Given the description of an element on the screen output the (x, y) to click on. 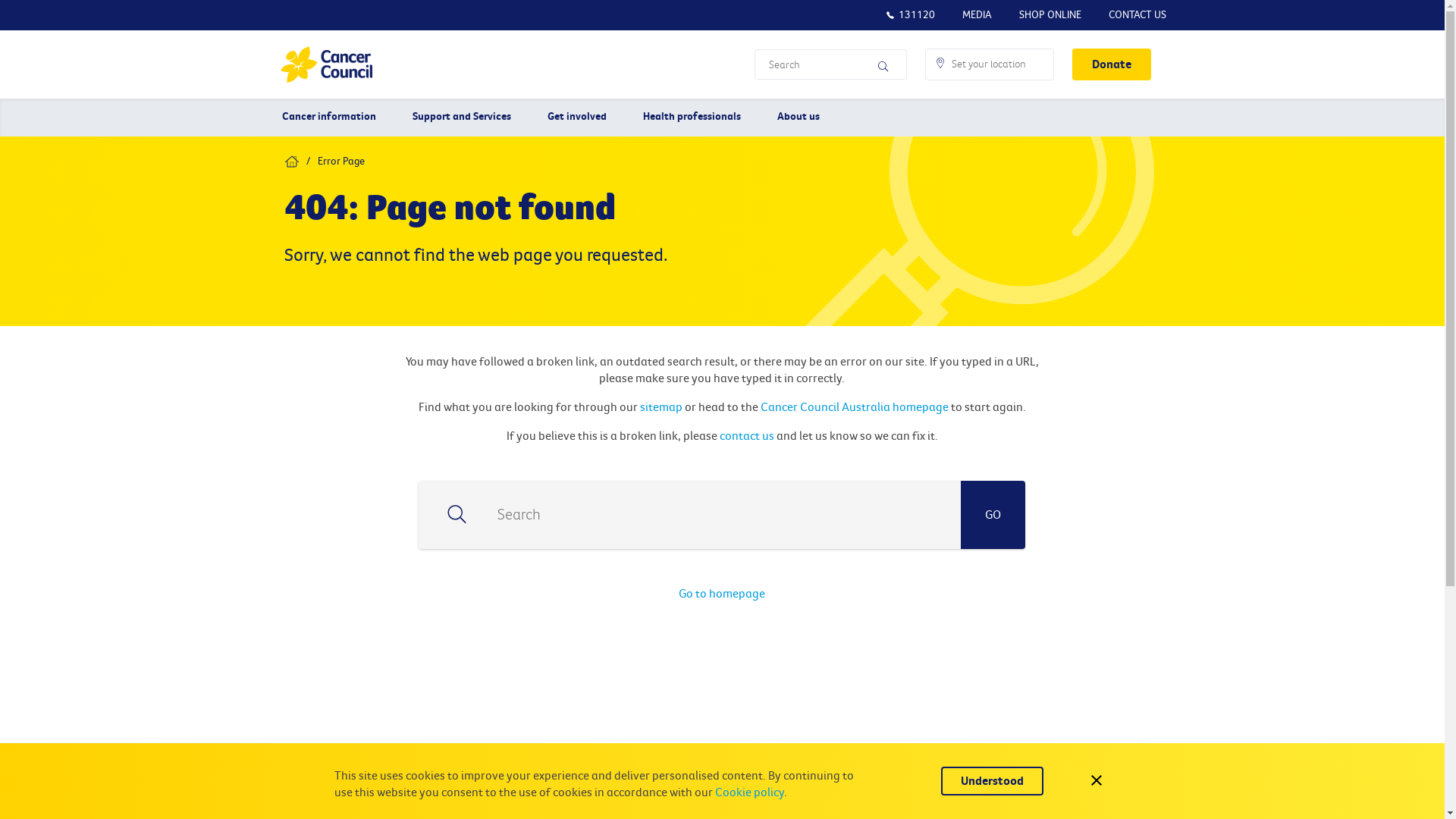
MEDIA Element type: text (976, 14)
131120 Element type: text (909, 14)
CONTACT US Element type: text (1137, 14)
Support and Services Element type: text (461, 117)
Get involved Element type: text (576, 117)
Error Page Element type: text (340, 160)
close Element type: hover (1096, 781)
About us Element type: text (798, 117)
Cookie policy Element type: text (749, 792)
sitemap Element type: text (661, 407)
GO Element type: text (992, 514)
Donate Element type: text (1111, 64)
Cancer information Element type: text (329, 117)
contact us Element type: text (746, 435)
Cancer Council Australia homepage Element type: text (854, 407)
SHOP ONLINE Element type: text (1050, 14)
Understood Element type: text (992, 780)
Go to homepage Element type: text (721, 593)
Health professionals Element type: text (691, 117)
